Given the description of an element on the screen output the (x, y) to click on. 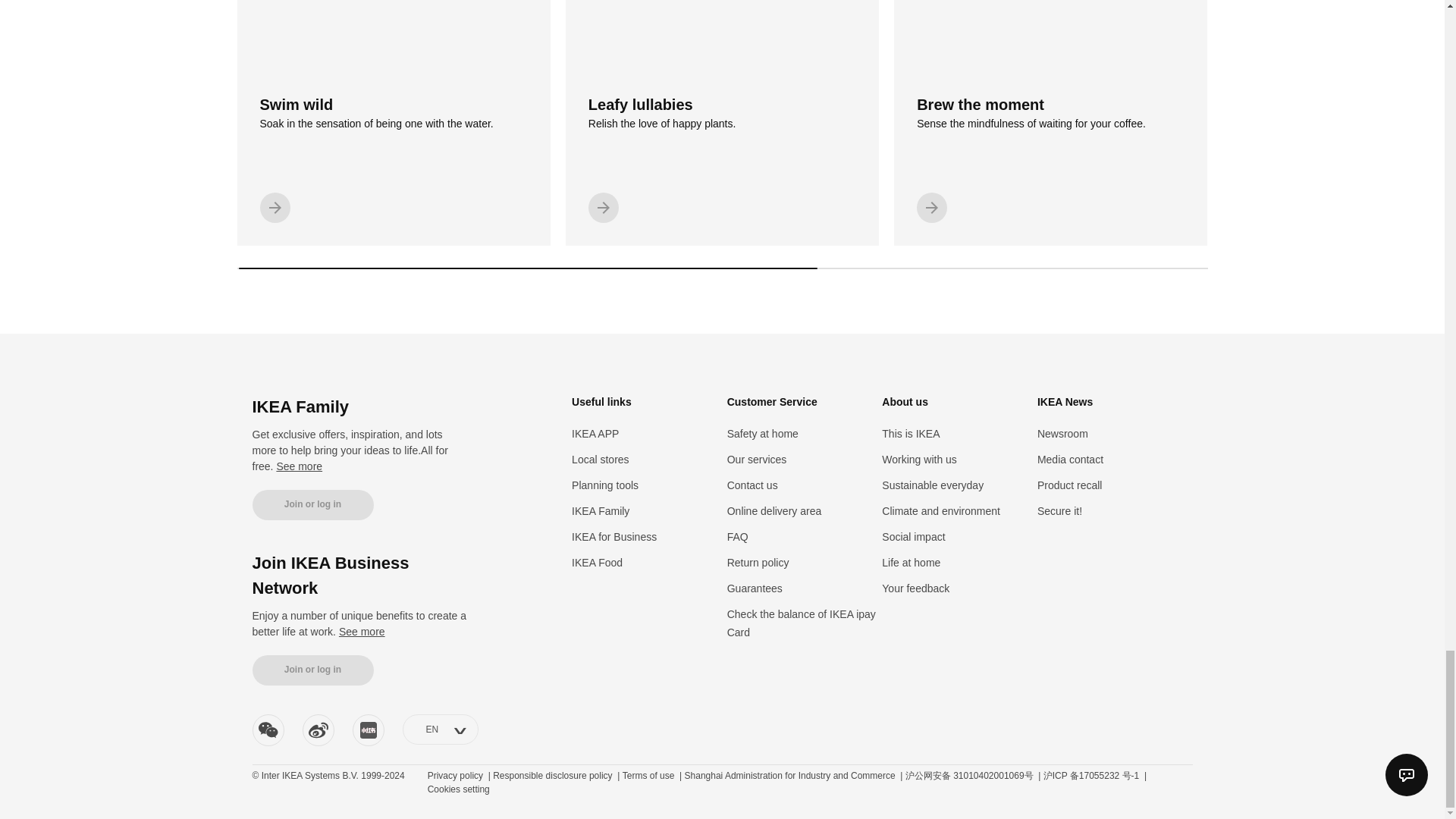
Working with us (919, 459)
IKEA for Business (392, 122)
See more (614, 536)
Safety at home (298, 466)
Local stores (761, 433)
Planning tools (600, 459)
FAQ (605, 485)
IKEA Family (737, 536)
IKEA APP (600, 510)
See more (595, 433)
Join or log in (362, 631)
Our services (311, 670)
